Given the description of an element on the screen output the (x, y) to click on. 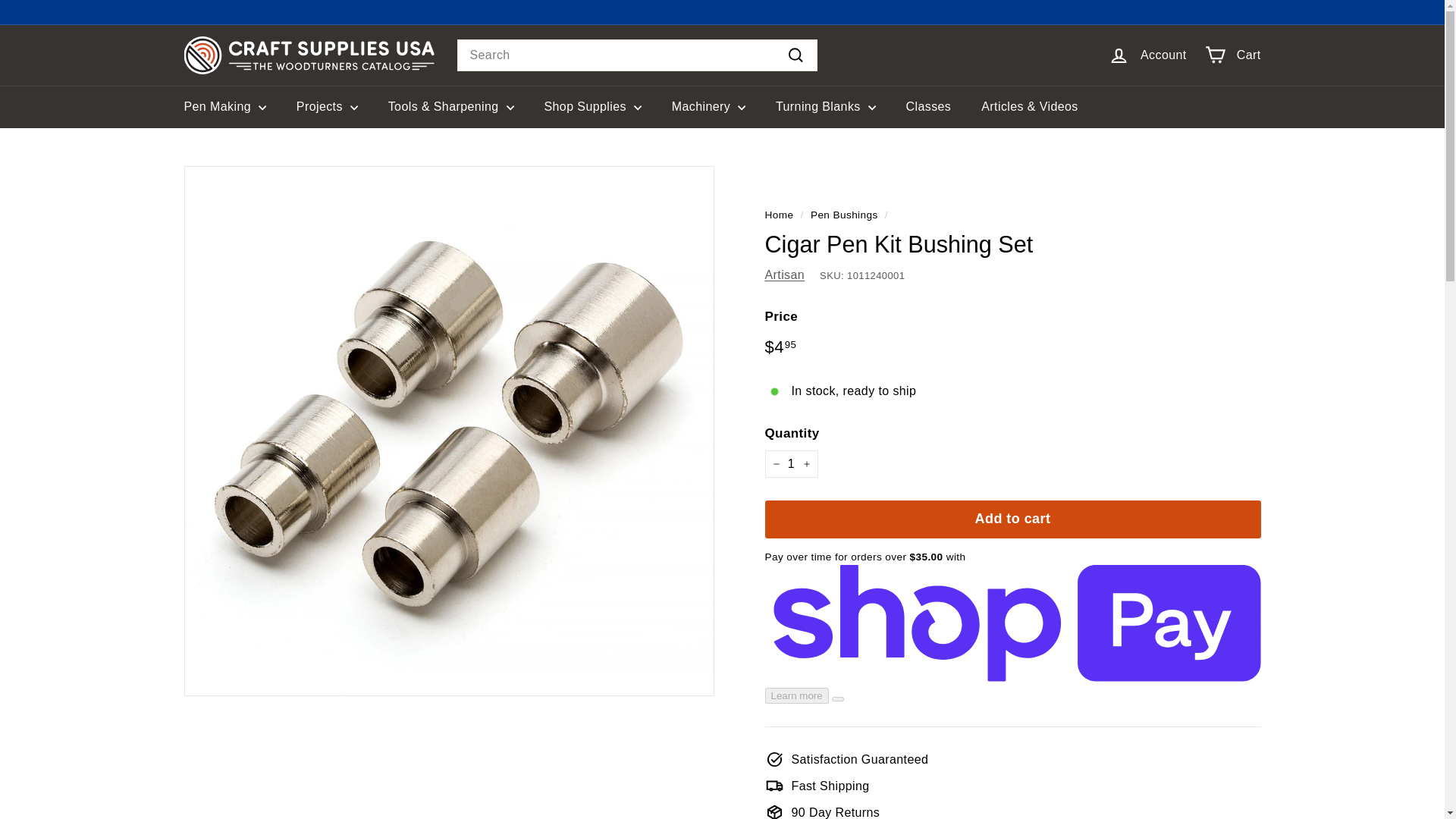
Artisan (784, 274)
1 (790, 463)
Account (1147, 54)
Back to the frontpage (778, 214)
Cart (1232, 54)
